Given the description of an element on the screen output the (x, y) to click on. 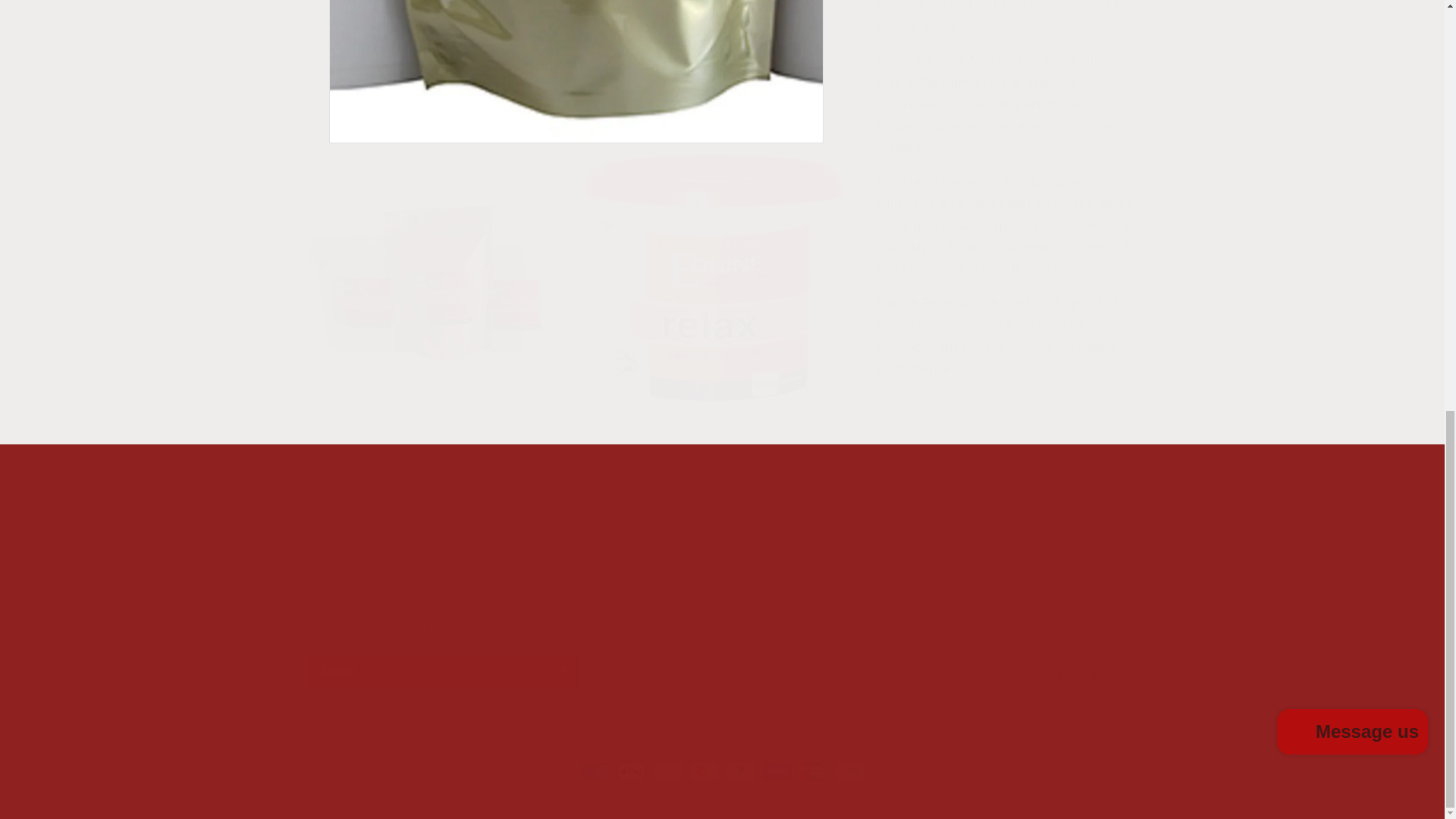
Open media 2 in modal (511, 557)
Open media 1 in modal (438, 147)
Open media 3 in modal (575, 3)
Kia ora, thanks for your support and good vibes. (713, 147)
